Given the description of an element on the screen output the (x, y) to click on. 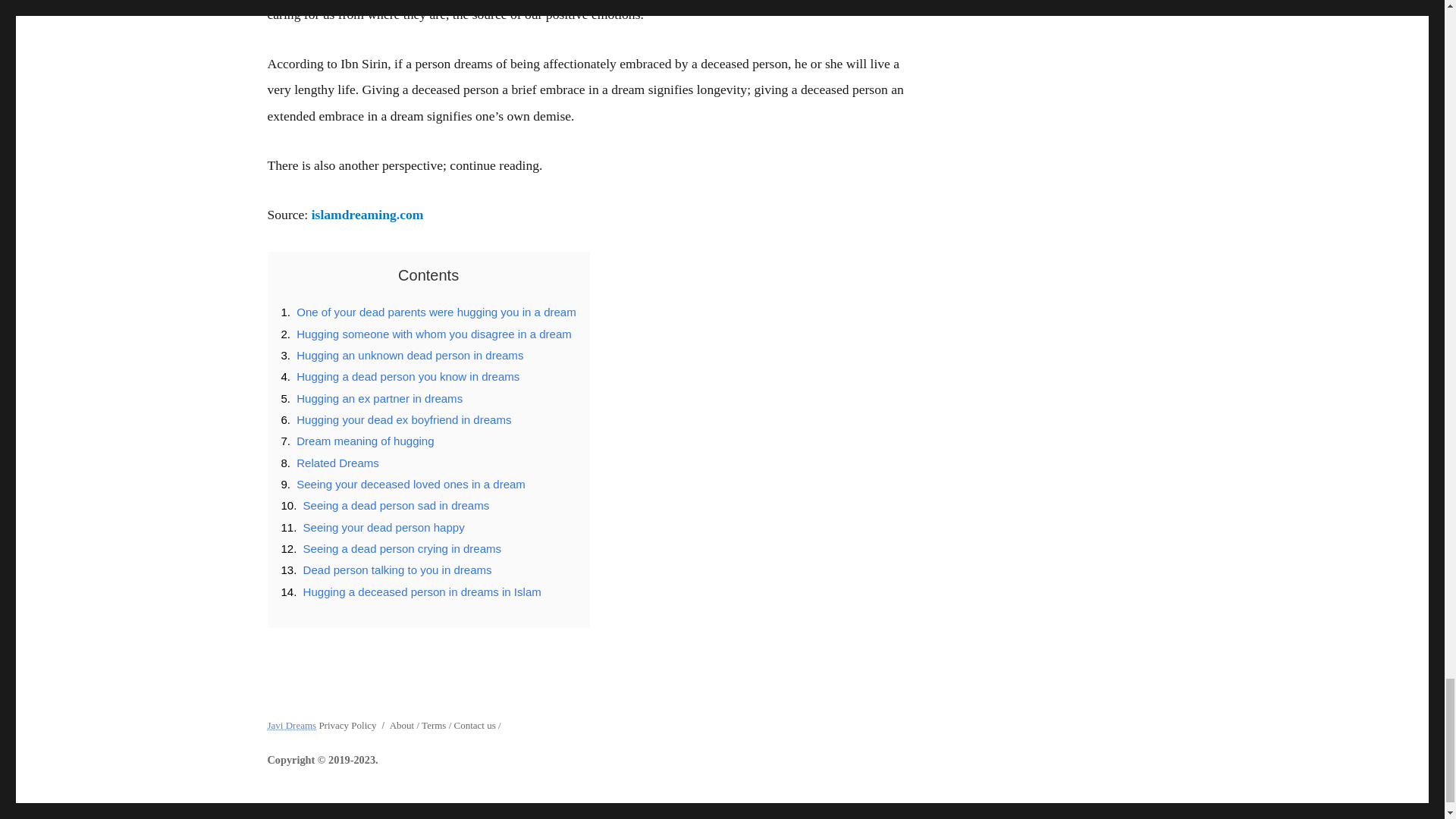
About (402, 725)
11. Seeing your dead person happy (372, 526)
6. Hugging your dead ex boyfriend in dreams (396, 419)
7. Dream meaning of hugging (357, 440)
Javi Dreams (290, 725)
13. Dead person talking to you in dreams (386, 569)
1. One of your dead parents were hugging you in a dream (428, 311)
Terms (433, 725)
10. Seeing a dead person sad in dreams (385, 504)
14. Hugging a deceased person in dreams in Islam (410, 591)
